Given the description of an element on the screen output the (x, y) to click on. 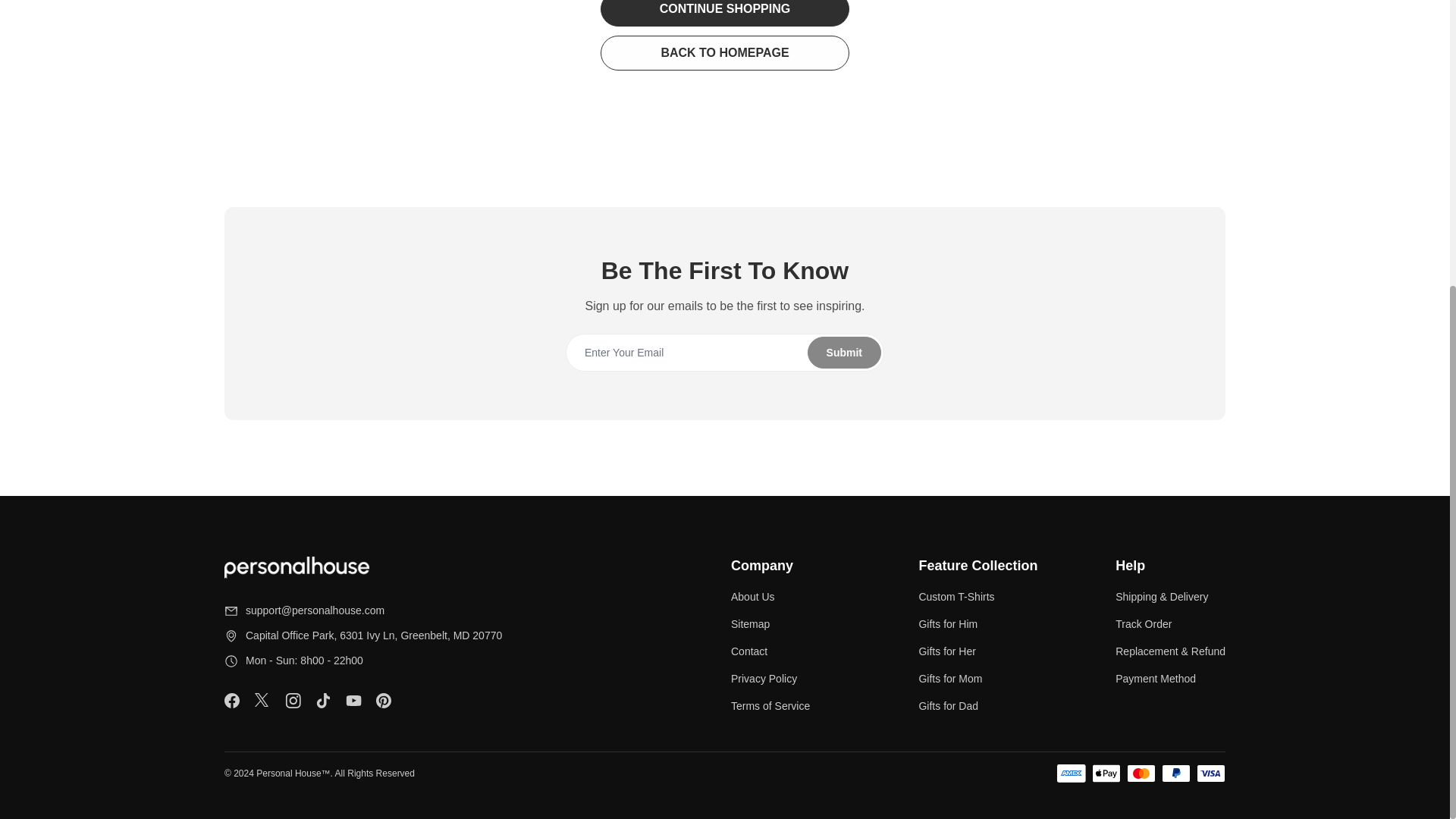
Submit (723, 352)
